Given the description of an element on the screen output the (x, y) to click on. 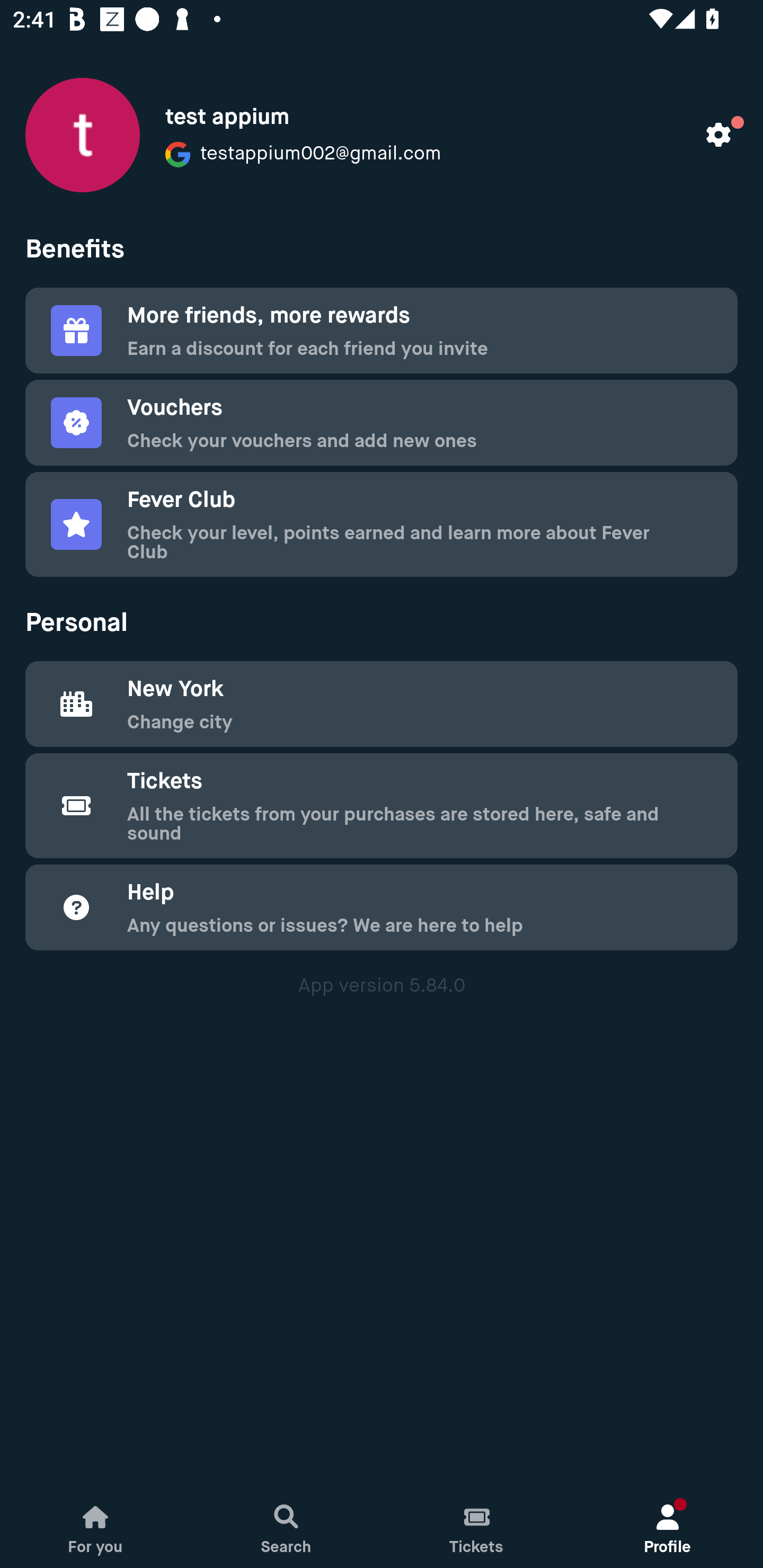
Vouchers Check your vouchers and add new ones (381, 422)
New York Change city (381, 703)
Help Any questions or issues? We are here to help (381, 906)
For you (95, 1523)
Search (285, 1523)
Tickets (476, 1523)
